Given the description of an element on the screen output the (x, y) to click on. 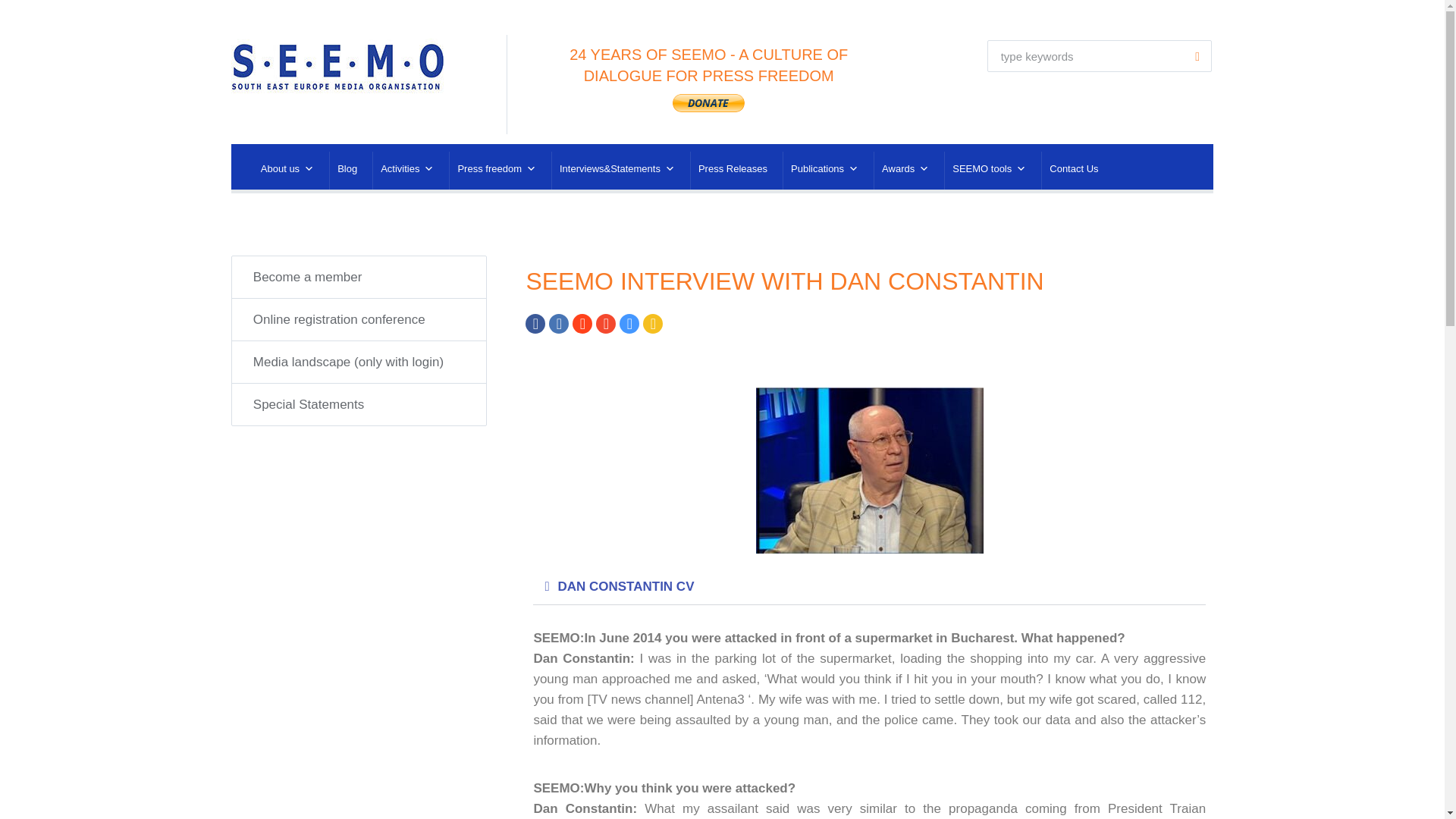
Blog (347, 170)
Activities (406, 170)
About us (287, 170)
